Given the description of an element on the screen output the (x, y) to click on. 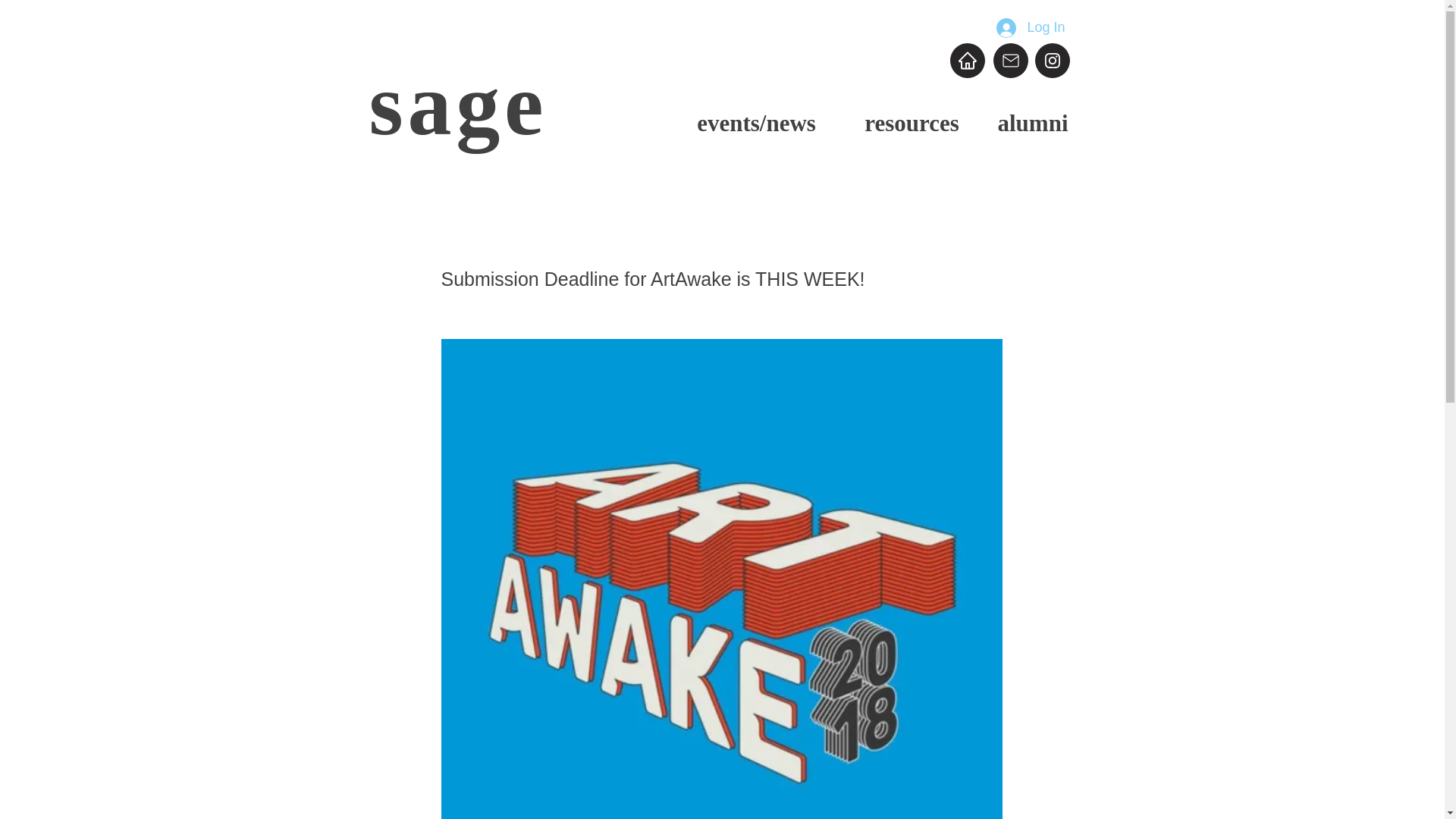
alumni (1031, 123)
Log In (1030, 27)
resources (911, 123)
